Given the description of an element on the screen output the (x, y) to click on. 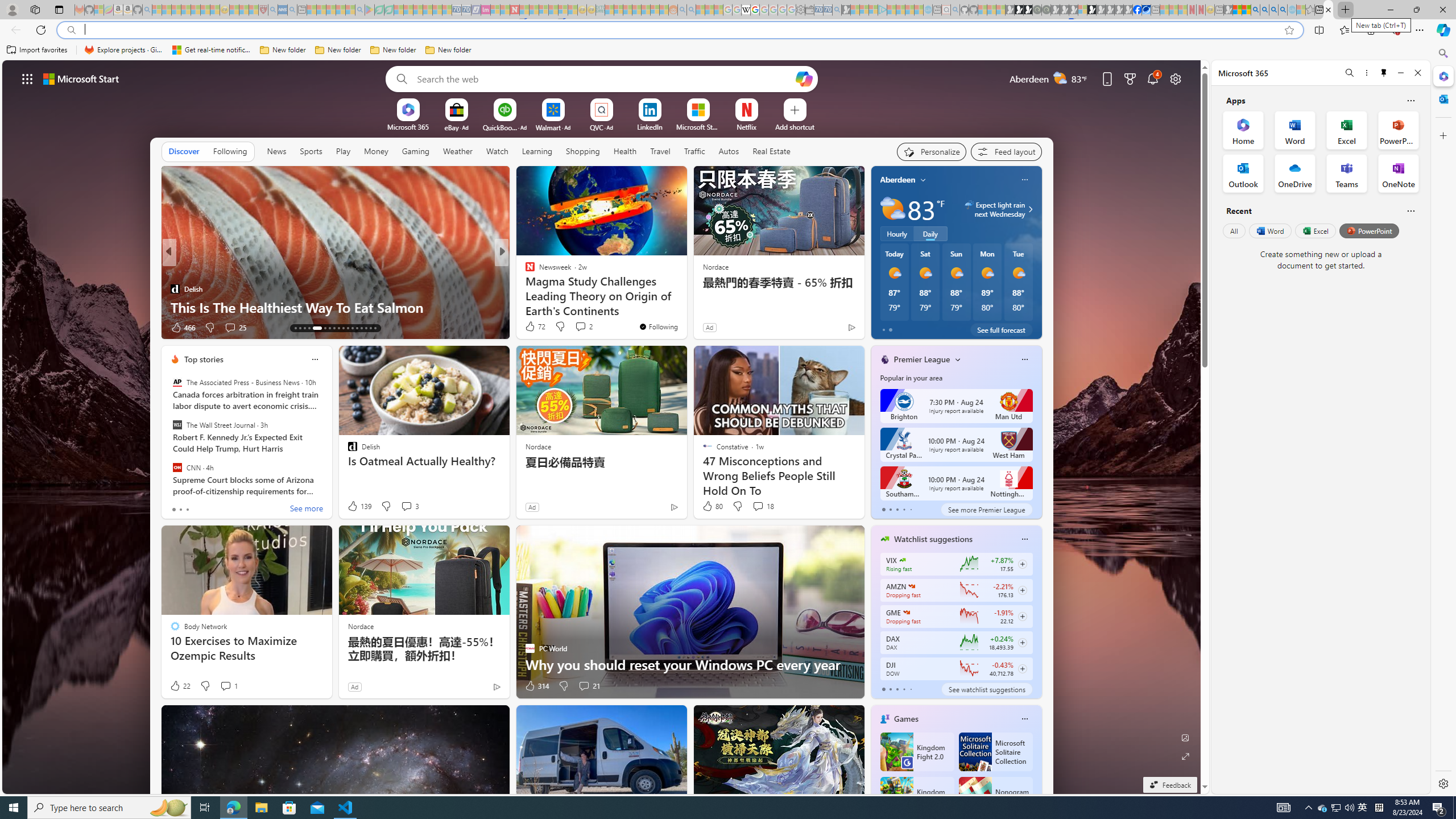
News (276, 151)
Daily (929, 233)
AutomationID: tab-29 (374, 328)
Kingdom Fight 2.0 (916, 751)
10 Like (530, 327)
New York Post (524, 270)
Travel (660, 151)
43 Like (530, 327)
Latest Politics News & Archive | Newsweek.com - Sleeping (514, 9)
